Given the description of an element on the screen output the (x, y) to click on. 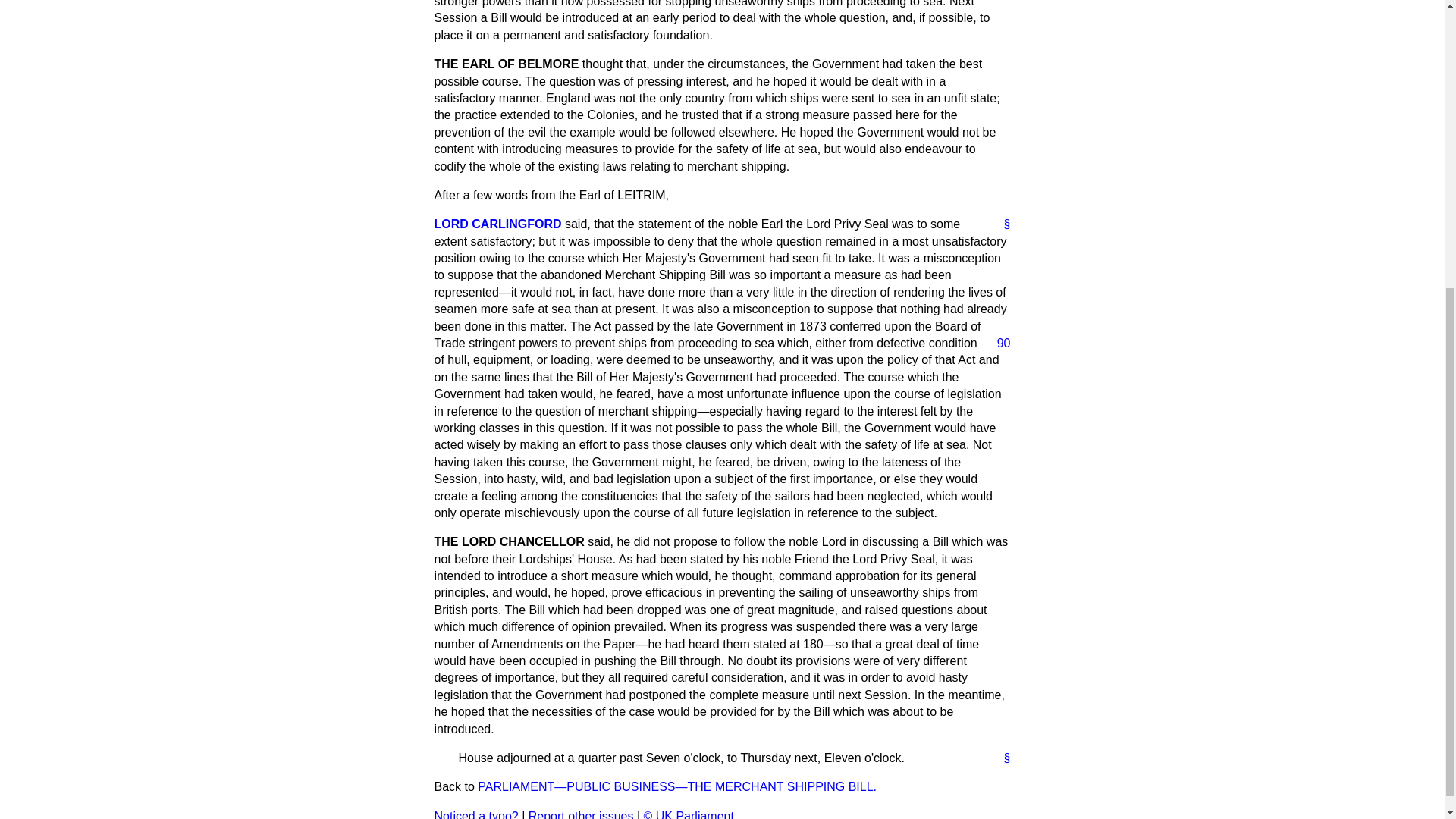
Link to this speech by Mr Chichester Fortescue (1000, 224)
Link to this contribution (1000, 758)
Mr Chichester Fortescue (496, 223)
LORD CARLINGFORD (496, 223)
90 (997, 343)
